Given the description of an element on the screen output the (x, y) to click on. 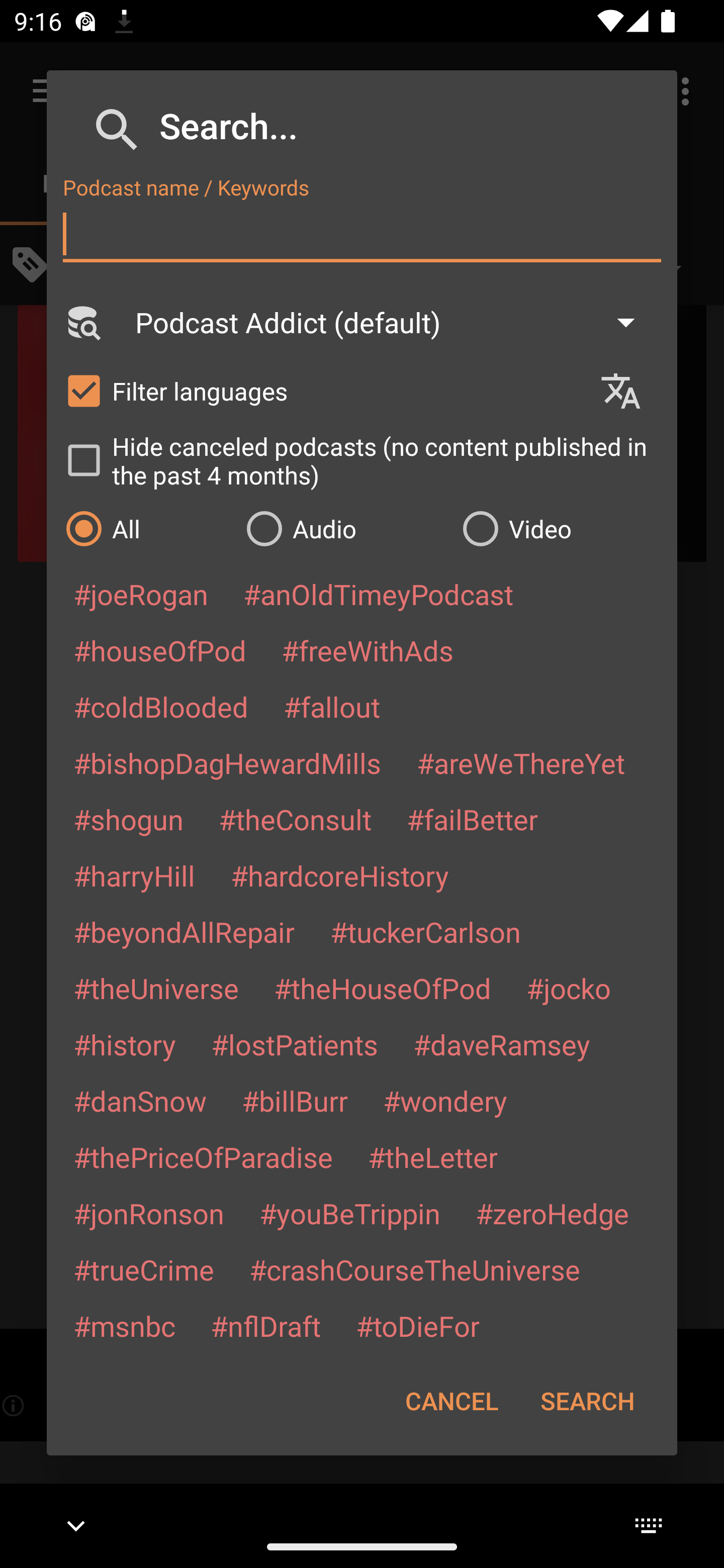
Podcast name / Keywords (361, 234)
Search Engine (82, 322)
Podcast Addict (default) (394, 322)
Languages selection (629, 390)
Filter languages (322, 390)
All (145, 528)
Audio (344, 528)
Video (560, 528)
#joeRogan (140, 594)
#anOldTimeyPodcast (378, 594)
#houseOfPod (159, 650)
#freeWithAds (367, 650)
#coldBlooded (160, 705)
#fallout (331, 705)
#bishopDagHewardMills (227, 762)
#areWeThereYet (521, 762)
#shogun (128, 818)
#theConsult (294, 818)
#failBetter (471, 818)
#harryHill (134, 875)
#hardcoreHistory (339, 875)
#beyondAllRepair (184, 931)
#tuckerCarlson (425, 931)
#theUniverse (155, 987)
#theHouseOfPod (381, 987)
#jocko (568, 987)
#history (124, 1044)
#lostPatients (294, 1044)
#daveRamsey (501, 1044)
#danSnow (139, 1100)
#billBurr (294, 1100)
#wondery (444, 1100)
#thePriceOfParadise (203, 1157)
#theLetter (432, 1157)
#jonRonson (148, 1213)
#youBeTrippin (349, 1213)
#zeroHedge (552, 1213)
#trueCrime (143, 1268)
#crashCourseTheUniverse (414, 1268)
#msnbc (124, 1325)
#nflDraft (265, 1325)
#toDieFor (417, 1325)
CANCEL (451, 1400)
SEARCH (587, 1400)
